Given the description of an element on the screen output the (x, y) to click on. 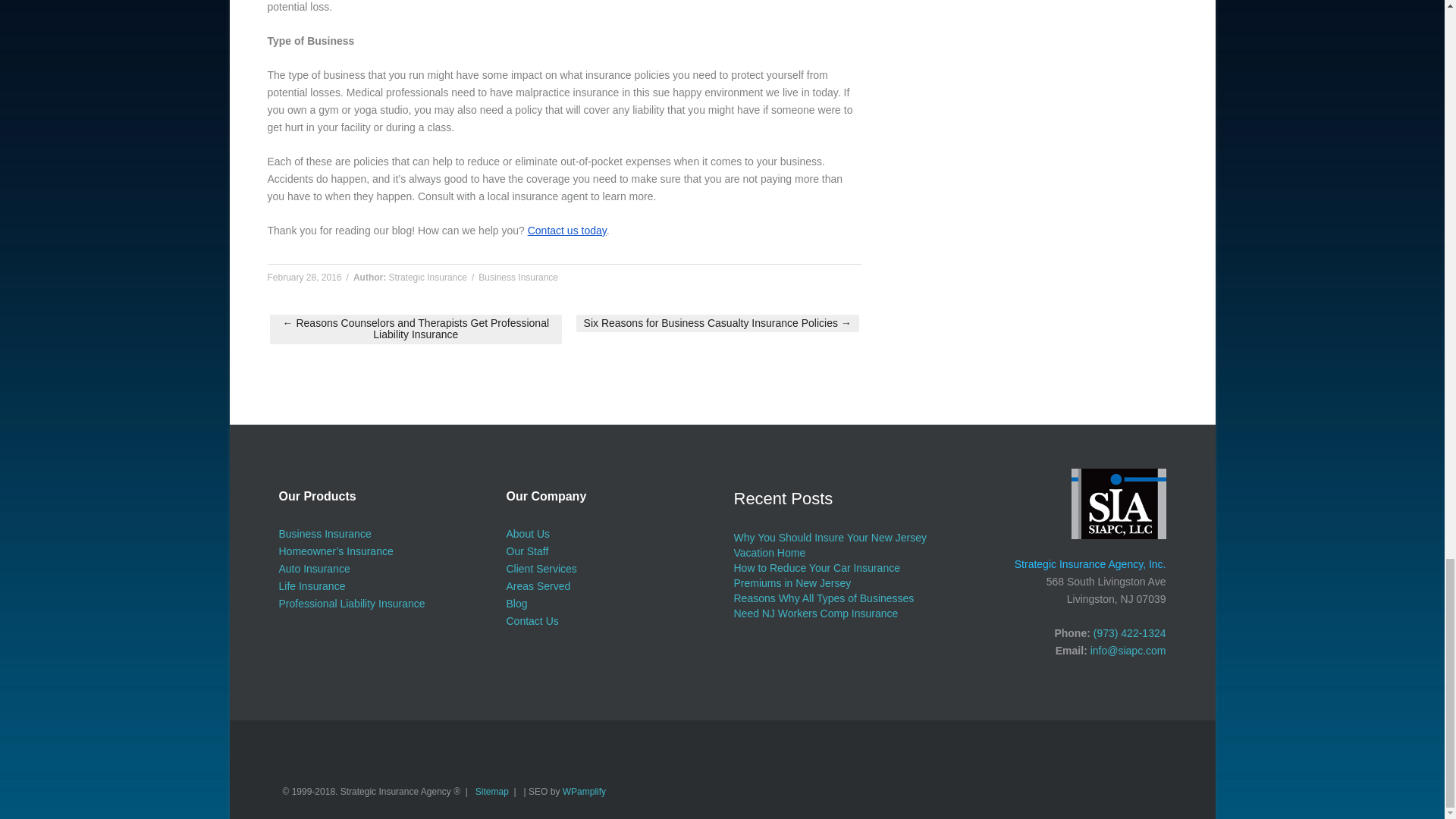
Business Insurance (325, 533)
Strategic Insurance (427, 276)
Contact us today (567, 230)
Business Insurance (518, 276)
View all posts by Strategic Insurance (427, 276)
